Given the description of an element on the screen output the (x, y) to click on. 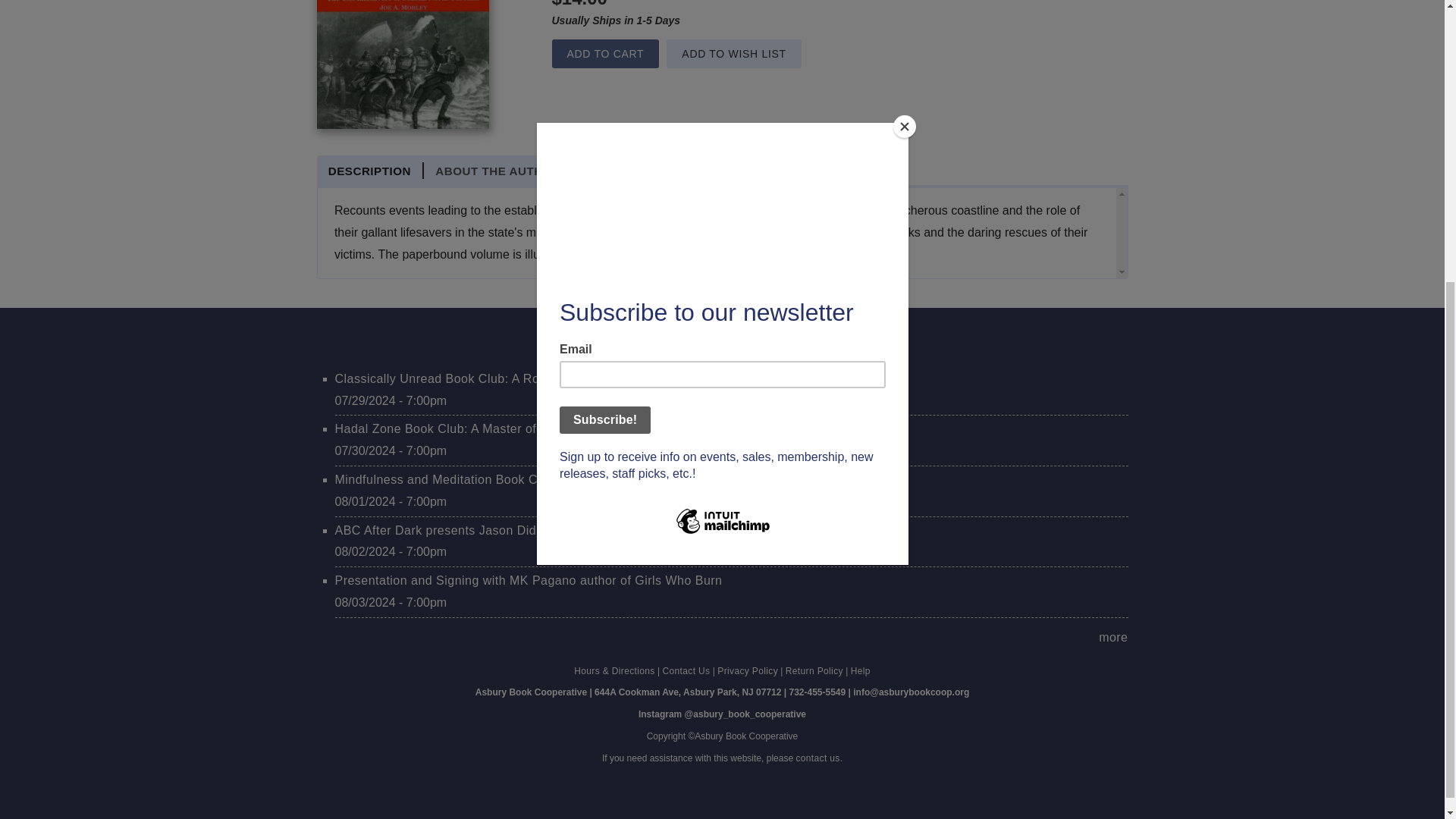
ADD TO WISH LIST (733, 53)
Hadal Zone Book Club: A Master of Djinn (452, 428)
DESCRIPTION (371, 170)
Add to Cart (605, 53)
DETAILS (611, 170)
Classically Unread Book Club: A Room of One's Own (486, 378)
Add to Cart (605, 53)
ABC After Dark presents Jason Didner and the Drive (485, 530)
more (1112, 636)
ABOUT THE AUTHOR (498, 170)
